Given the description of an element on the screen output the (x, y) to click on. 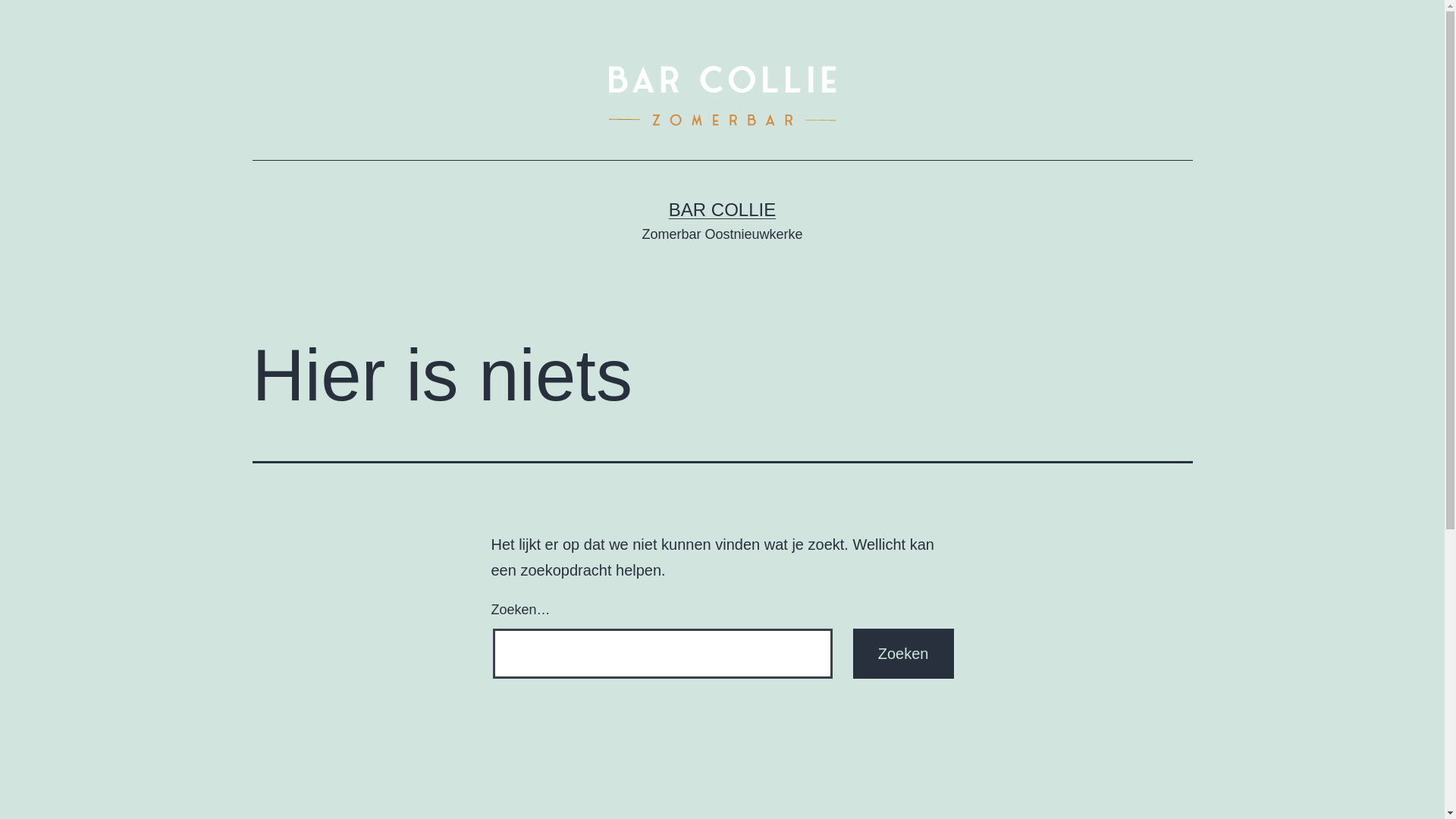
Zoeken Element type: text (903, 653)
BAR COLLIE Element type: text (721, 209)
